Given the description of an element on the screen output the (x, y) to click on. 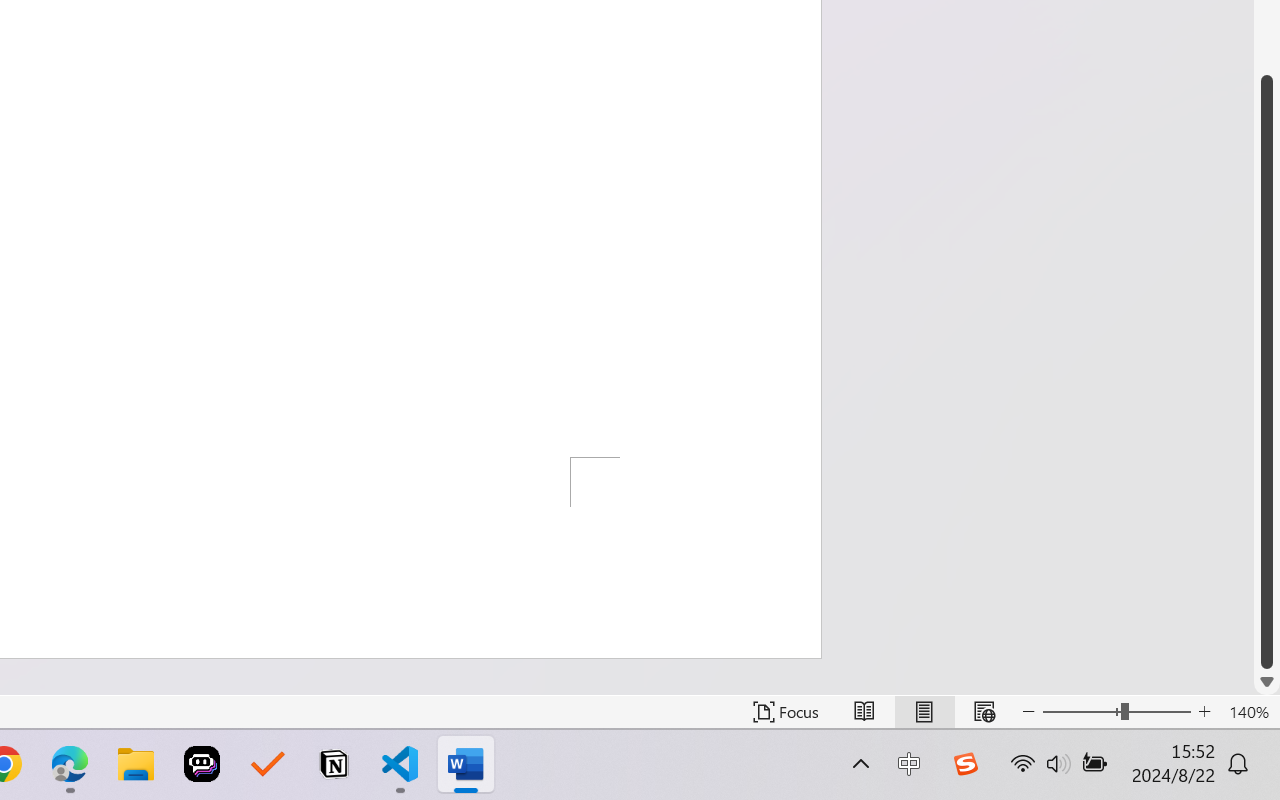
Zoom In (1204, 712)
Read Mode (864, 712)
Print Layout (924, 712)
Zoom (1116, 712)
Line down (1267, 681)
Focus  (786, 712)
Zoom Out (1081, 712)
Zoom 140% (1249, 712)
Class: Image (965, 764)
Web Layout (984, 712)
